Given the description of an element on the screen output the (x, y) to click on. 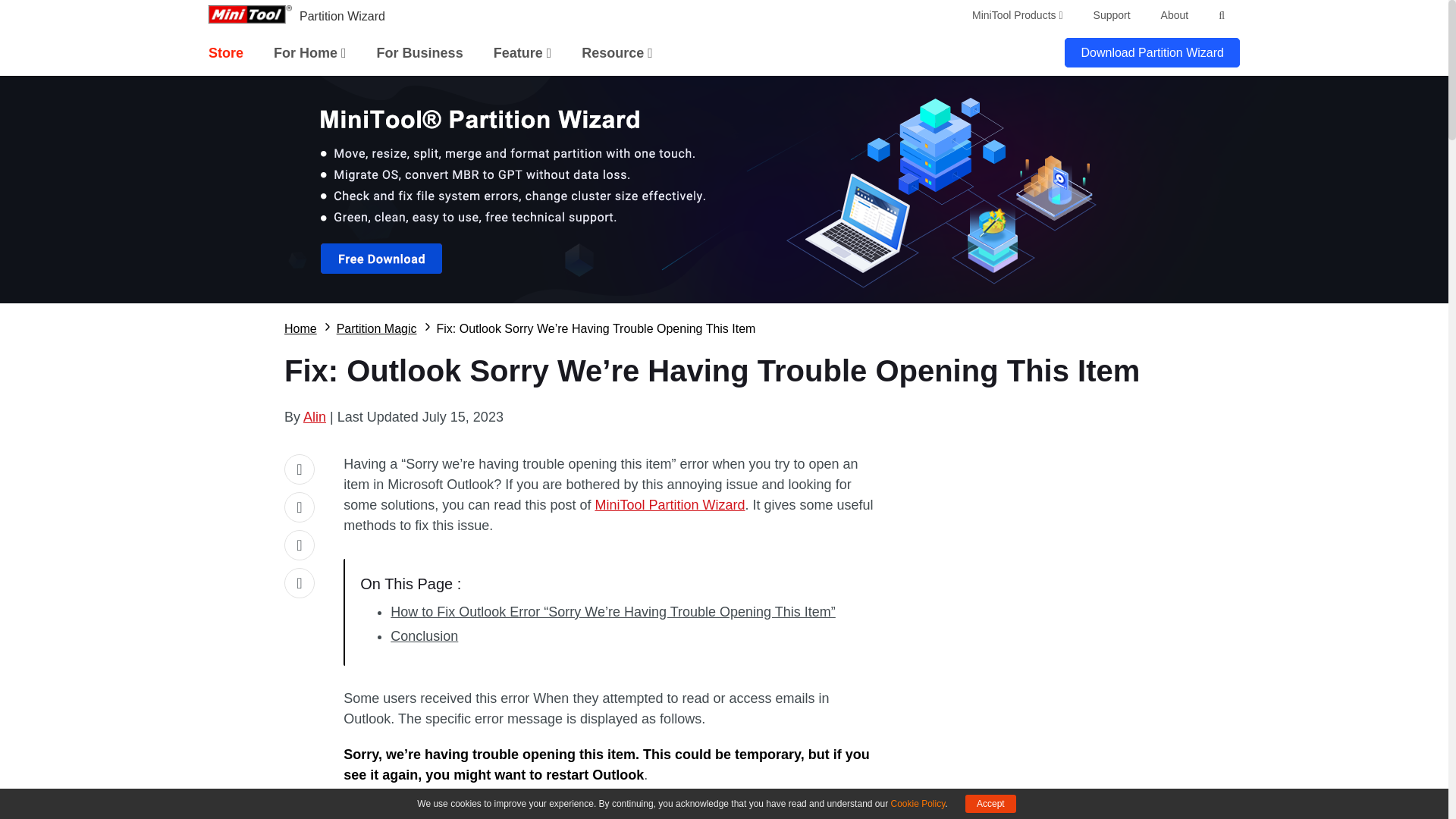
For Home (309, 52)
Partition Wizard (342, 15)
MiniTool Partition Wizard (669, 504)
Resource (616, 52)
MiniTool Products (1017, 15)
Home (300, 328)
Store (225, 52)
For Business (420, 52)
Conclusion (424, 635)
About (1174, 15)
Partition Magic (376, 328)
Feature (522, 52)
Download Partition Wizard (1152, 52)
Alin (314, 417)
Support (1112, 15)
